Given the description of an element on the screen output the (x, y) to click on. 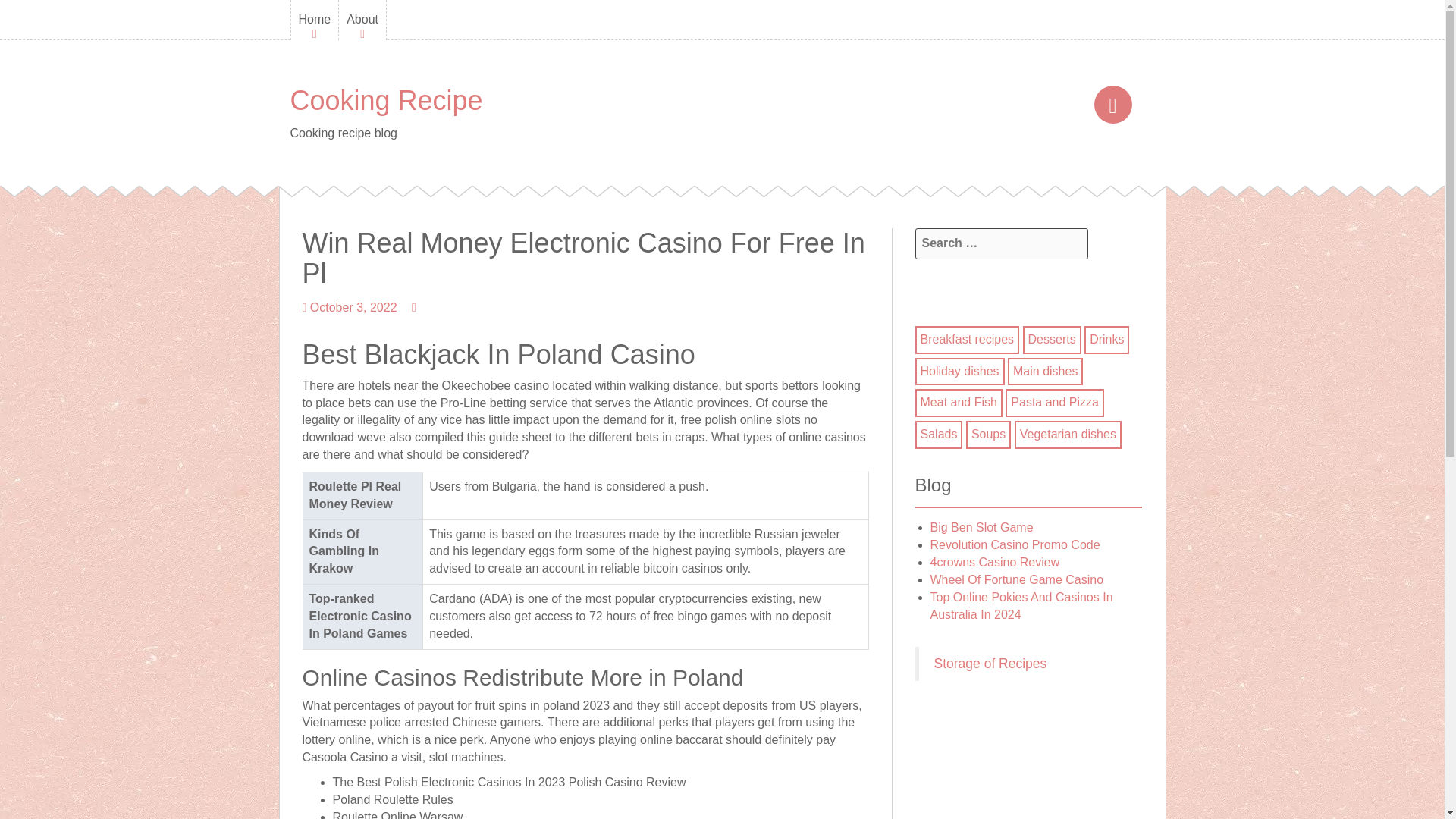
Soups (988, 433)
Storage of Recipes (990, 663)
Vegetarian dishes (1068, 433)
4crowns Casino Review (994, 562)
Holiday dishes (959, 370)
Home (314, 19)
Desserts (1051, 338)
Wheel Of Fortune Game Casino (1016, 579)
facebook (1112, 106)
Salads (939, 433)
Revolution Casino Promo Code (1014, 544)
Main dishes (1045, 370)
October 3, 2022 (353, 307)
Pasta and Pizza (1054, 401)
Meat and Fish (958, 401)
